Given the description of an element on the screen output the (x, y) to click on. 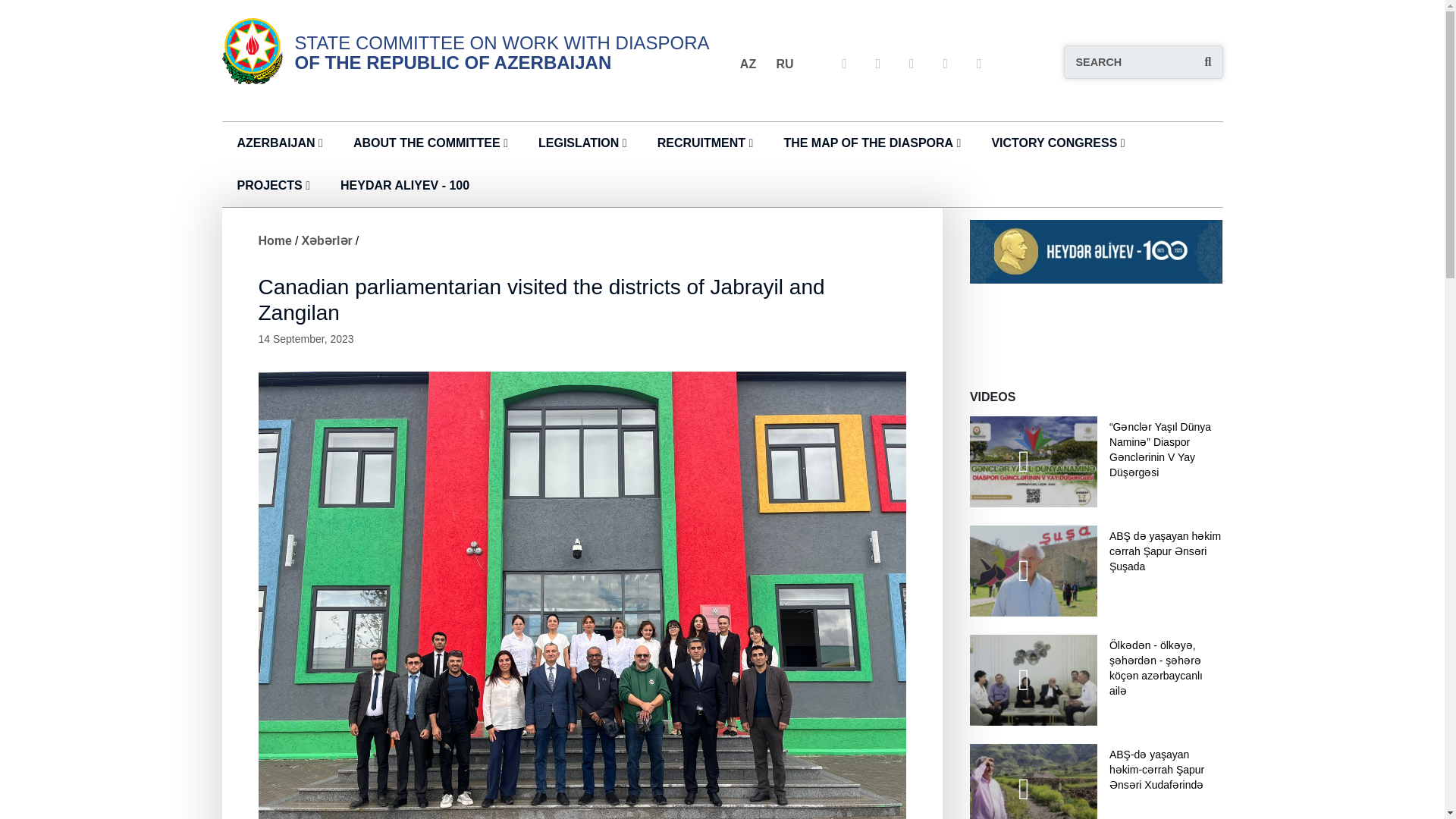
LEGISLATION (578, 142)
ABOUT THE COMMITTEE (426, 142)
AZ (747, 63)
AZERBAIJAN (274, 142)
RU (784, 63)
